Given the description of an element on the screen output the (x, y) to click on. 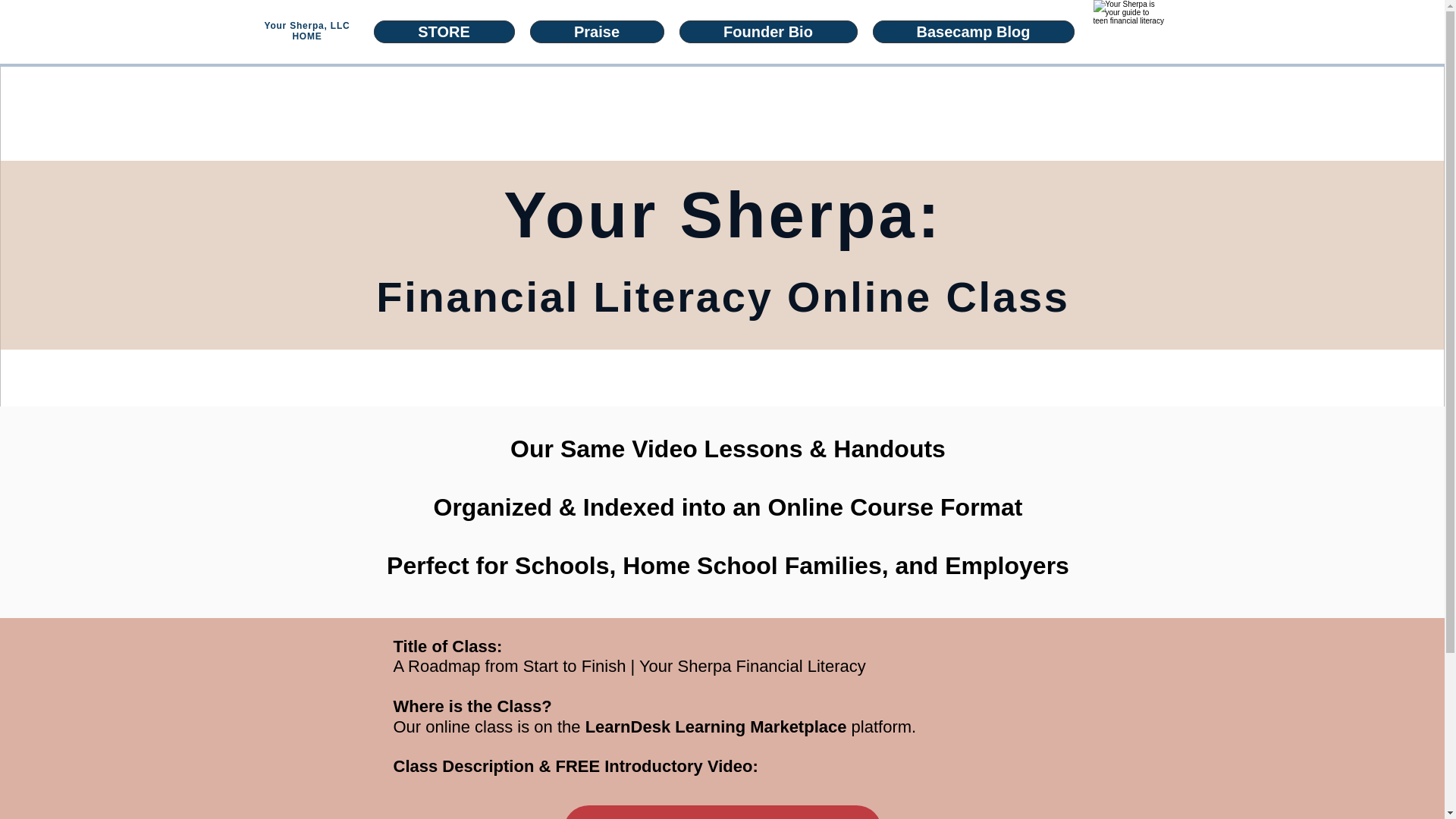
Go To Class Landing Page (721, 812)
STORE (442, 31)
Founder Bio (768, 31)
Basecamp Blog (973, 31)
Your Sherpa, LLC HOME (306, 30)
Praise (596, 31)
